Given the description of an element on the screen output the (x, y) to click on. 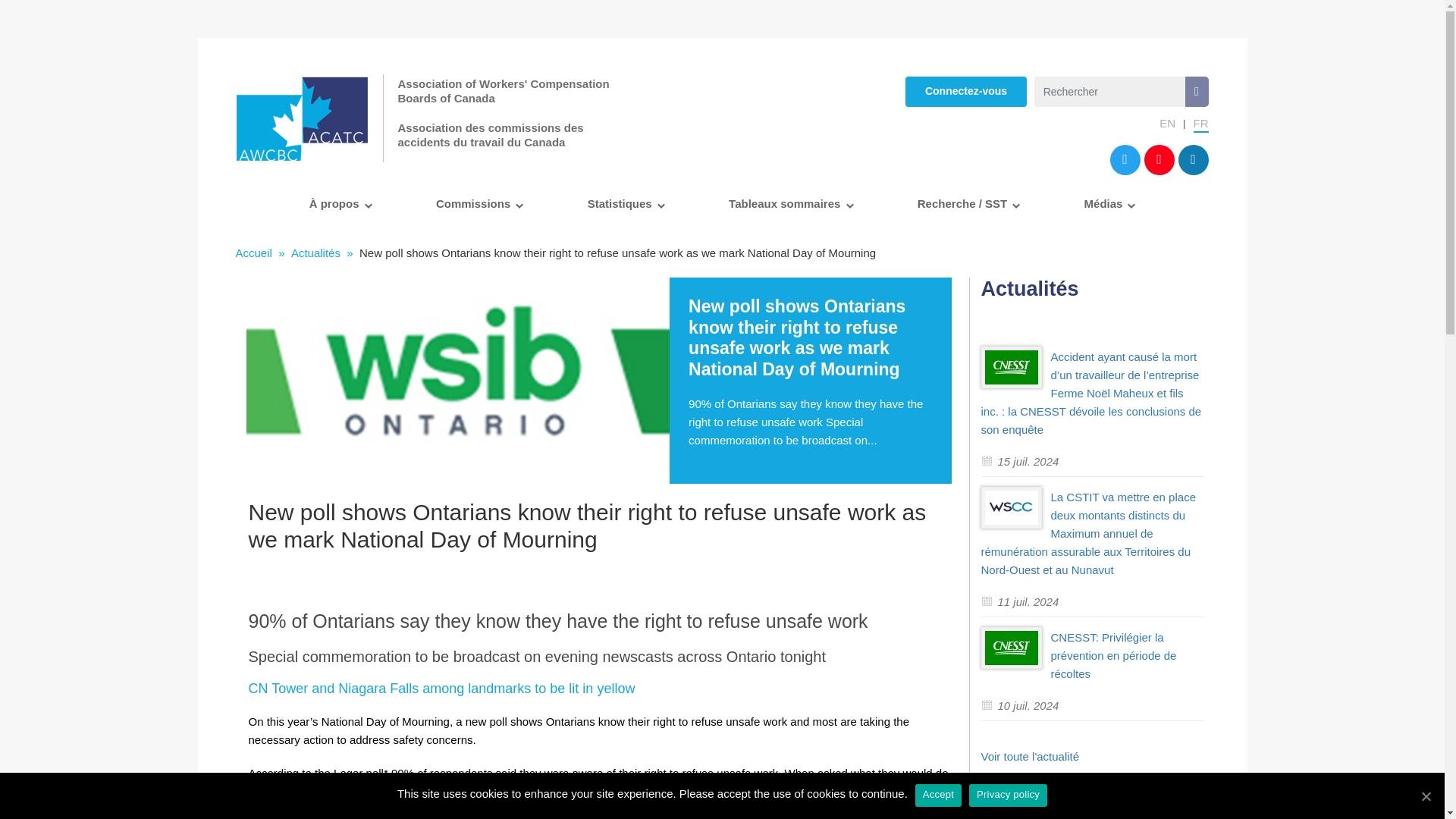
Commissions (474, 203)
Home (252, 253)
Statistiques (621, 203)
EN (1175, 125)
Connectez-vous (965, 91)
